Given the description of an element on the screen output the (x, y) to click on. 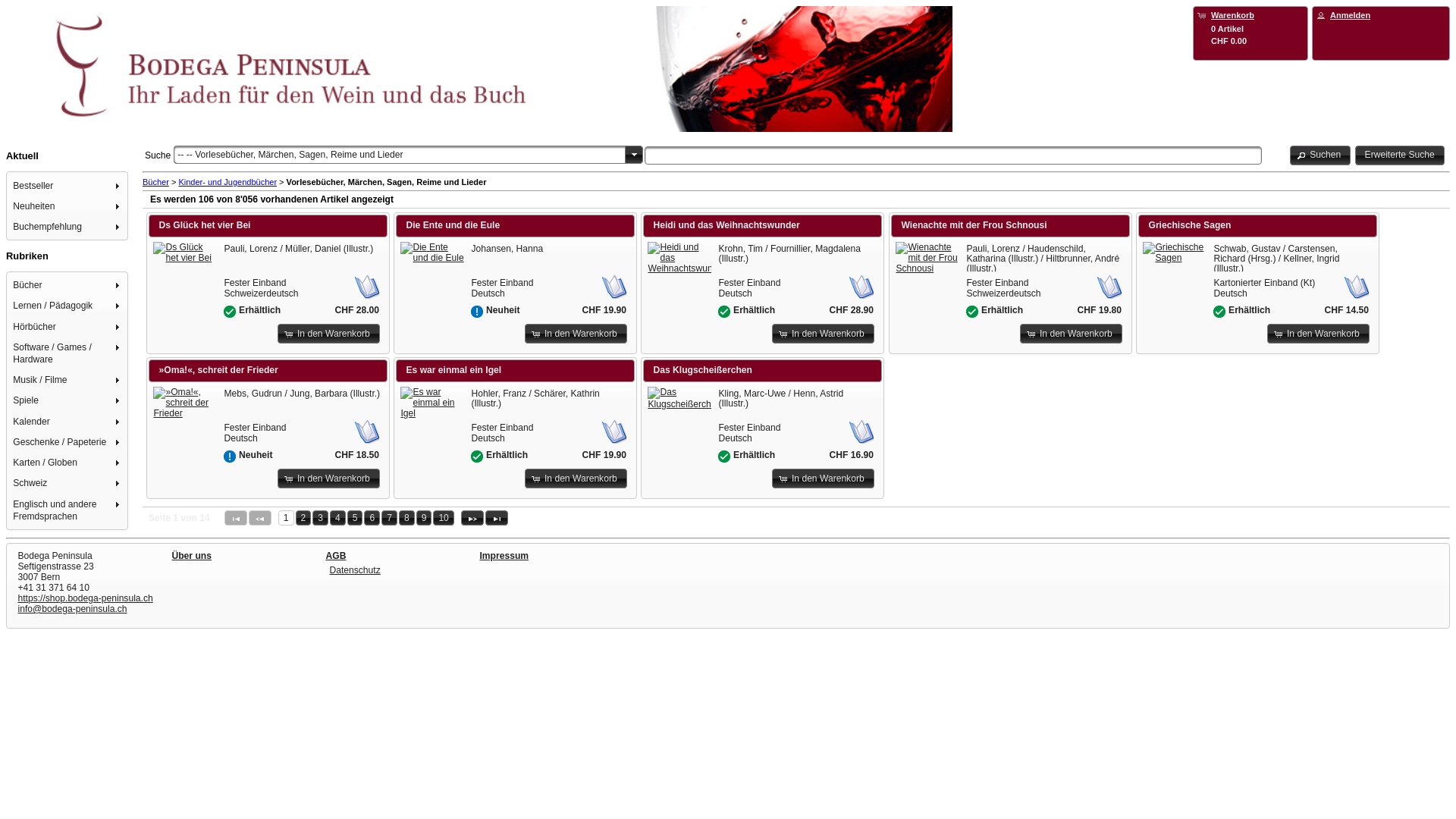
Buch Element type: hover (861, 286)
Artikel anzeigen Element type: hover (432, 402)
Buch Element type: hover (861, 431)
Buchempfehlung Element type: text (67, 225)
Englisch und andere Fremdsprachen Element type: text (67, 509)
Buch Element type: hover (614, 286)
In den Warenkorb Element type: text (1318, 333)
Artikel anzeigen Element type: hover (432, 252)
In den Warenkorb Element type: text (822, 478)
In den Warenkorb Element type: text (575, 478)
Artikel anzeigen Element type: hover (679, 397)
Buch Element type: hover (1109, 286)
Kalender Element type: text (67, 420)
Buch Element type: hover (366, 431)
Artikel anzeigen Element type: hover (184, 252)
Musik / Filme Element type: text (67, 379)
Der Artikel ist lieferbar. Element type: hover (724, 456)
Artikel anzeigen Element type: hover (184, 402)
In den Warenkorb Element type: text (822, 333)
Buch Element type: hover (366, 286)
Artikel anzeigen Element type: hover (927, 257)
In den Warenkorb Element type: text (328, 333)
Neuheiten Element type: text (67, 205)
Der Artikel ist lieferbar. Element type: hover (229, 311)
Warenkorb
0 Artikel
CHF 0.00 Element type: text (1250, 26)
Buch Element type: hover (1356, 286)
Der Artikel ist lieferbar. Element type: hover (724, 311)
Spiele Element type: text (67, 400)
Artikel anzeigen Element type: hover (679, 257)
Der Artikel ist lieferbar. Element type: hover (1219, 311)
info@bodega-peninsula.ch Element type: text (72, 608)
Erweiterte Suche Element type: text (1399, 155)
Bestseller Element type: text (67, 184)
AGB Element type: text (336, 555)
In den Warenkorb Element type: text (1070, 333)
Datenschutz Element type: text (354, 569)
Karten / Globen Element type: text (67, 462)
Artikel anzeigen Element type: hover (1174, 252)
Software / Games / Hardware Element type: text (67, 352)
Buch Element type: hover (614, 431)
Suchen Element type: text (1320, 155)
Schweiz Element type: text (67, 482)
In den Warenkorb Element type: text (575, 333)
Der Artikel ist lieferbar. Element type: hover (476, 456)
Der Artikel ist lieferbar. Element type: hover (972, 311)
Anmelden Element type: text (1350, 14)
In den Warenkorb Element type: text (328, 478)
Impressum Element type: text (503, 555)
Geschenke / Papeterie Element type: text (67, 441)
https://shop.bodega-peninsula.ch Element type: text (85, 598)
